Given the description of an element on the screen output the (x, y) to click on. 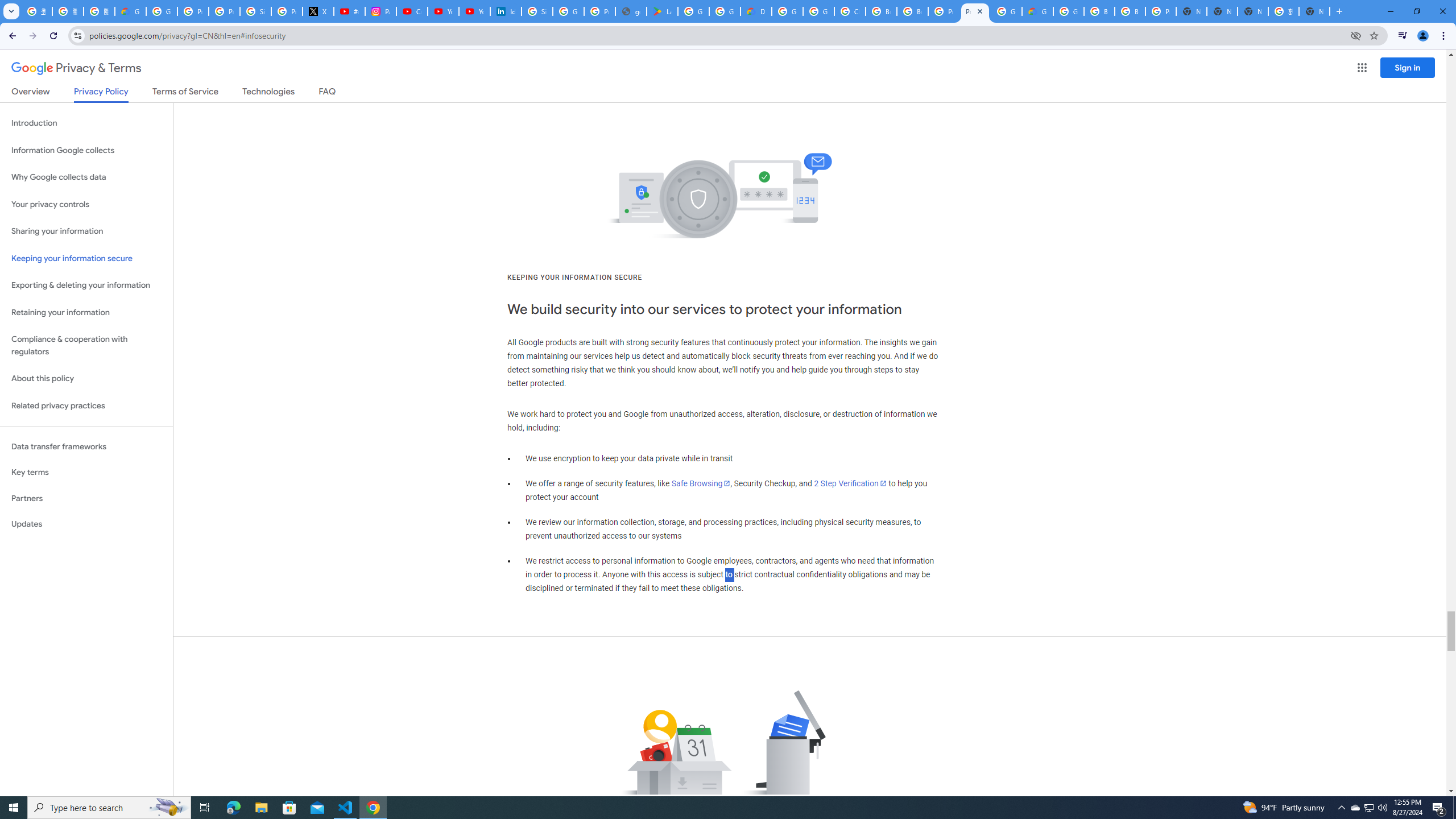
Sign in (1407, 67)
Partners (86, 497)
Third-party cookies blocked (1355, 35)
Browse Chrome as a guest - Computer - Google Chrome Help (1098, 11)
Bookmark this tab (1373, 35)
Minimize (1390, 11)
#nbabasketballhighlights - YouTube (349, 11)
Identity verification via Persona | LinkedIn Help (505, 11)
You (1422, 35)
Search tabs (10, 11)
Google apps (1362, 67)
